Given the description of an element on the screen output the (x, y) to click on. 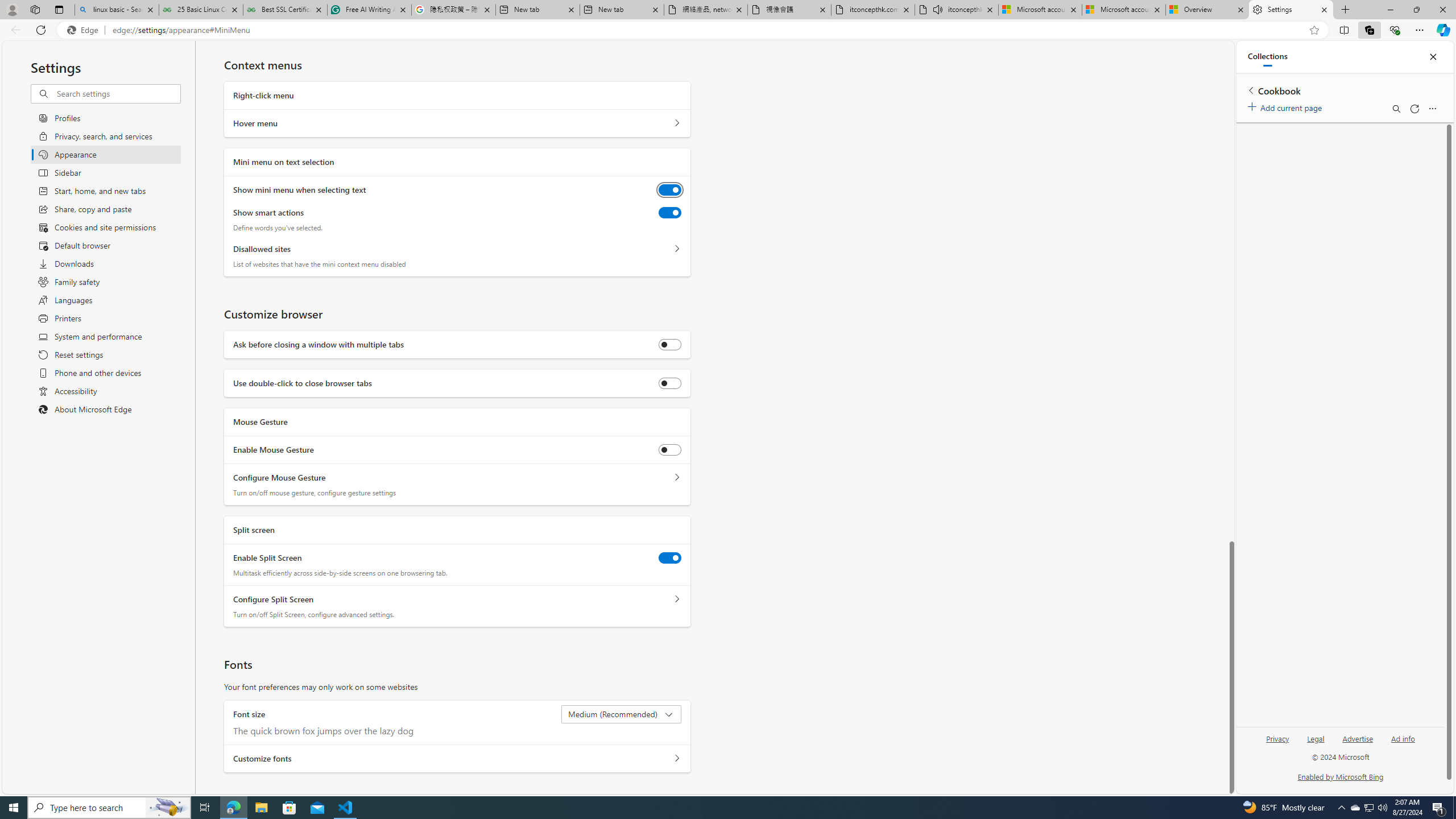
Search settings (117, 93)
linux basic - Search (116, 9)
itconcepthk.com/projector_solutions.mp4 (873, 9)
Font size Medium (Recommended) (621, 714)
Edge (84, 29)
itconcepthk.com/projector_solutions.mp4 - Audio playing (956, 9)
Back to list of collections (1250, 90)
